Given the description of an element on the screen output the (x, y) to click on. 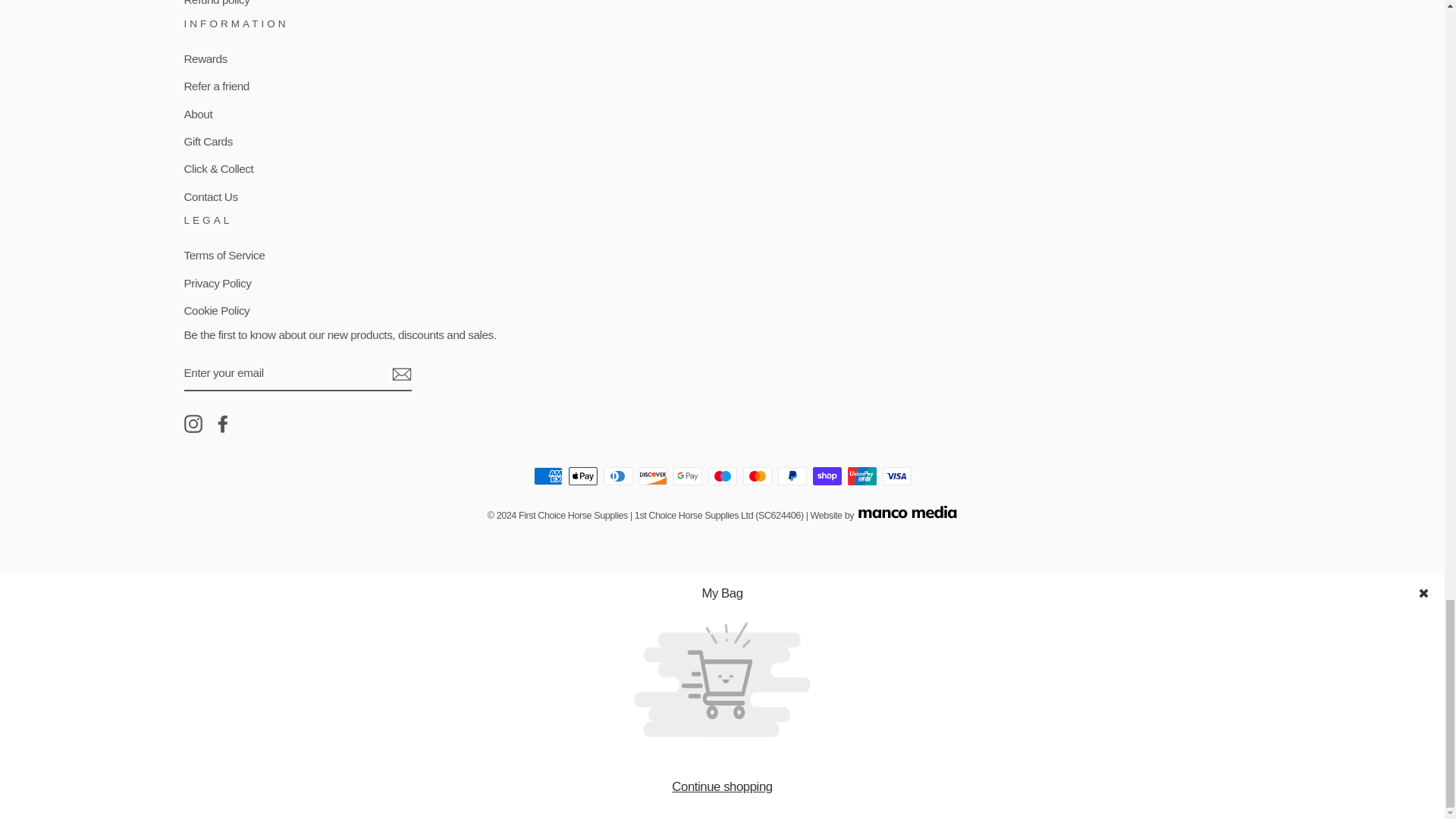
First Choice Horse Supplies on Instagram (192, 423)
Apple Pay (582, 475)
American Express (548, 475)
First Choice Horse Supplies on Facebook (222, 423)
